Given the description of an element on the screen output the (x, y) to click on. 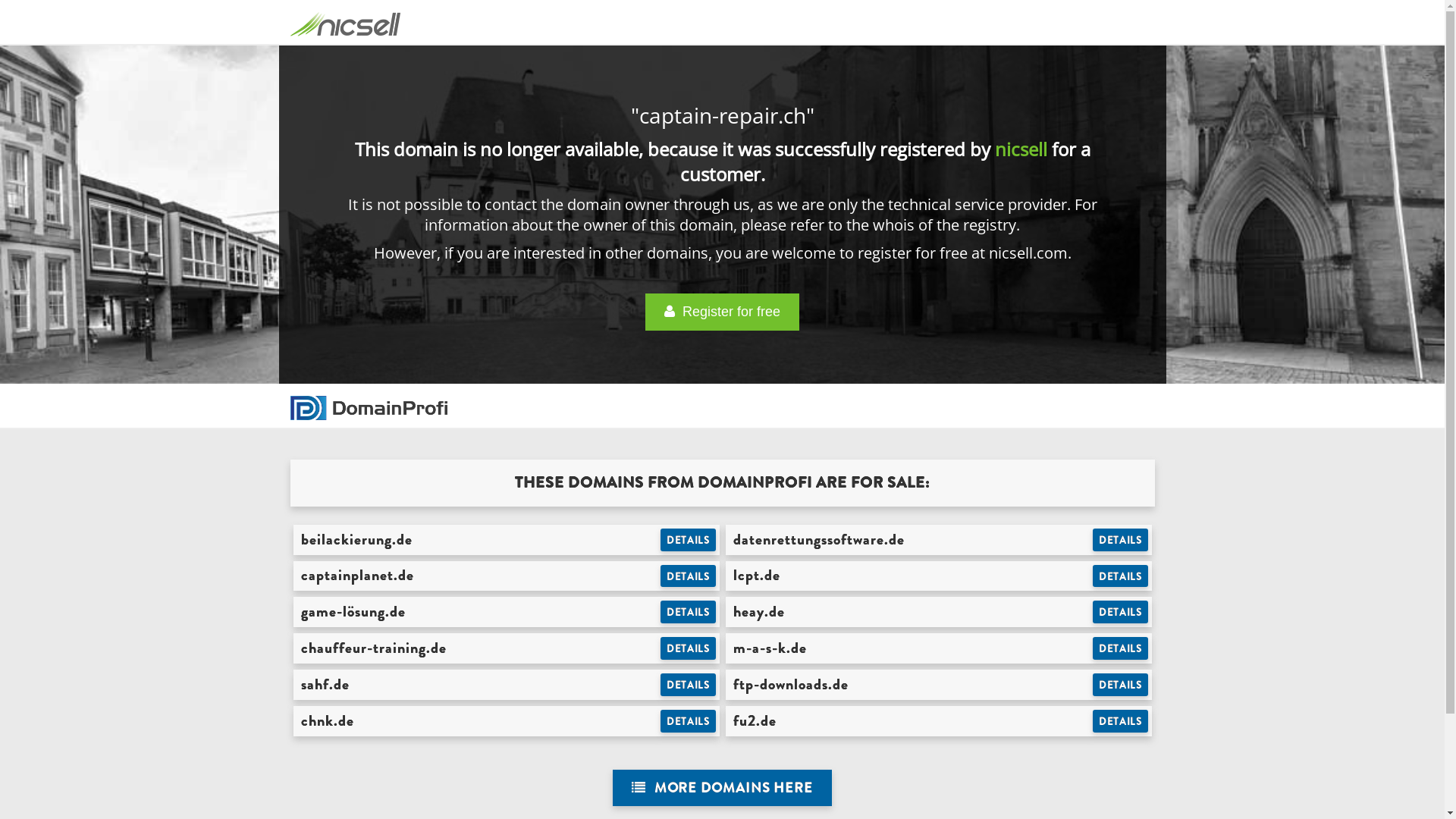
DETAILS Element type: text (687, 648)
DETAILS Element type: text (1120, 611)
DETAILS Element type: text (1120, 575)
DETAILS Element type: text (1120, 539)
  Register for free Element type: text (722, 311)
DETAILS Element type: text (687, 575)
DETAILS Element type: text (687, 720)
DETAILS Element type: text (687, 684)
DETAILS Element type: text (1120, 648)
DETAILS Element type: text (1120, 720)
  MORE DOMAINS HERE Element type: text (721, 787)
DETAILS Element type: text (687, 539)
DETAILS Element type: text (1120, 684)
nicsell Element type: text (1020, 148)
DETAILS Element type: text (687, 611)
